Given the description of an element on the screen output the (x, y) to click on. 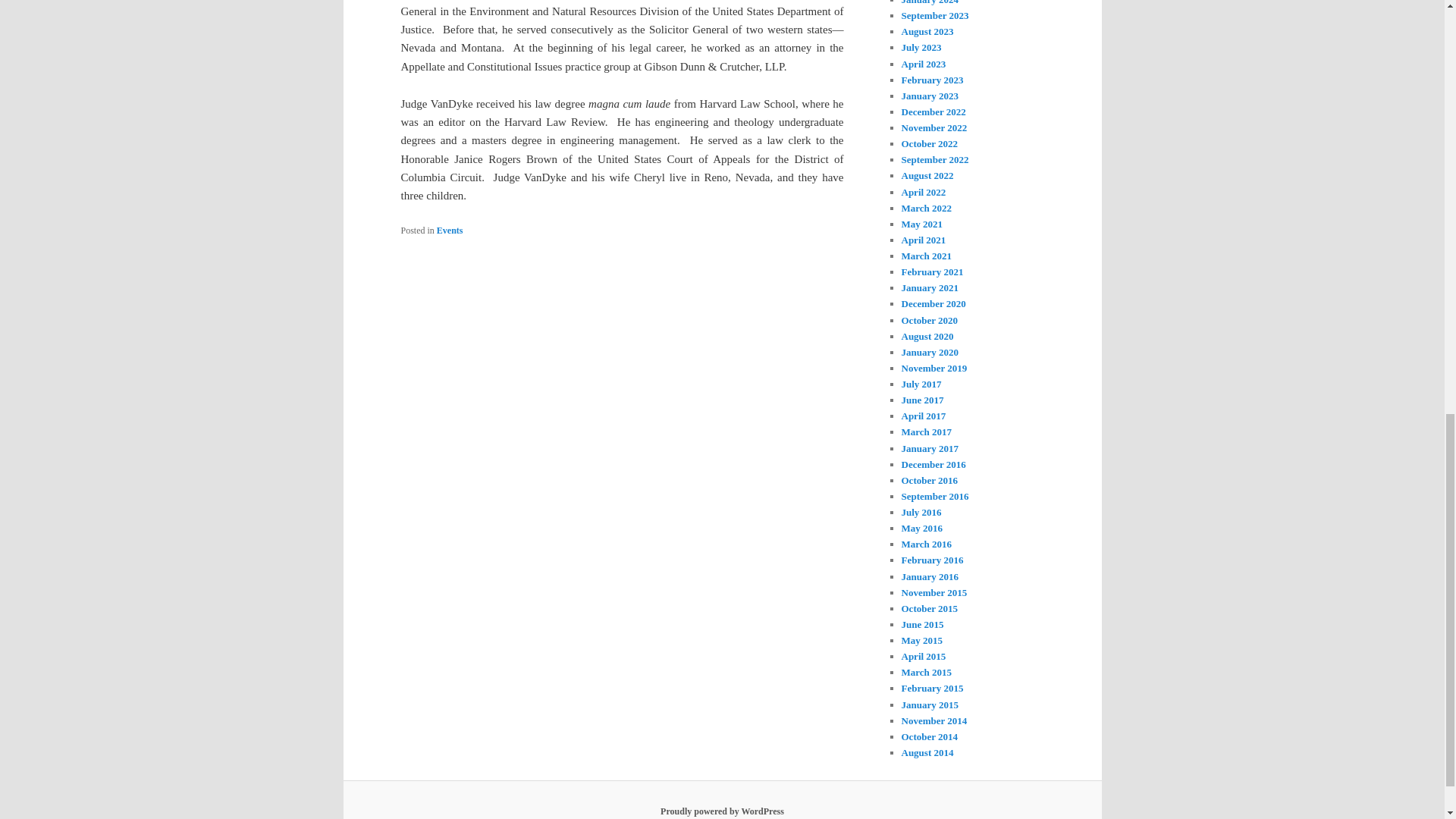
August 2023 (927, 30)
March 2022 (926, 207)
January 2023 (929, 95)
December 2022 (933, 111)
November 2022 (933, 127)
Semantic Personal Publishing Platform (722, 810)
October 2022 (929, 143)
April 2022 (922, 191)
January 2024 (929, 2)
July 2023 (920, 47)
